Given the description of an element on the screen output the (x, y) to click on. 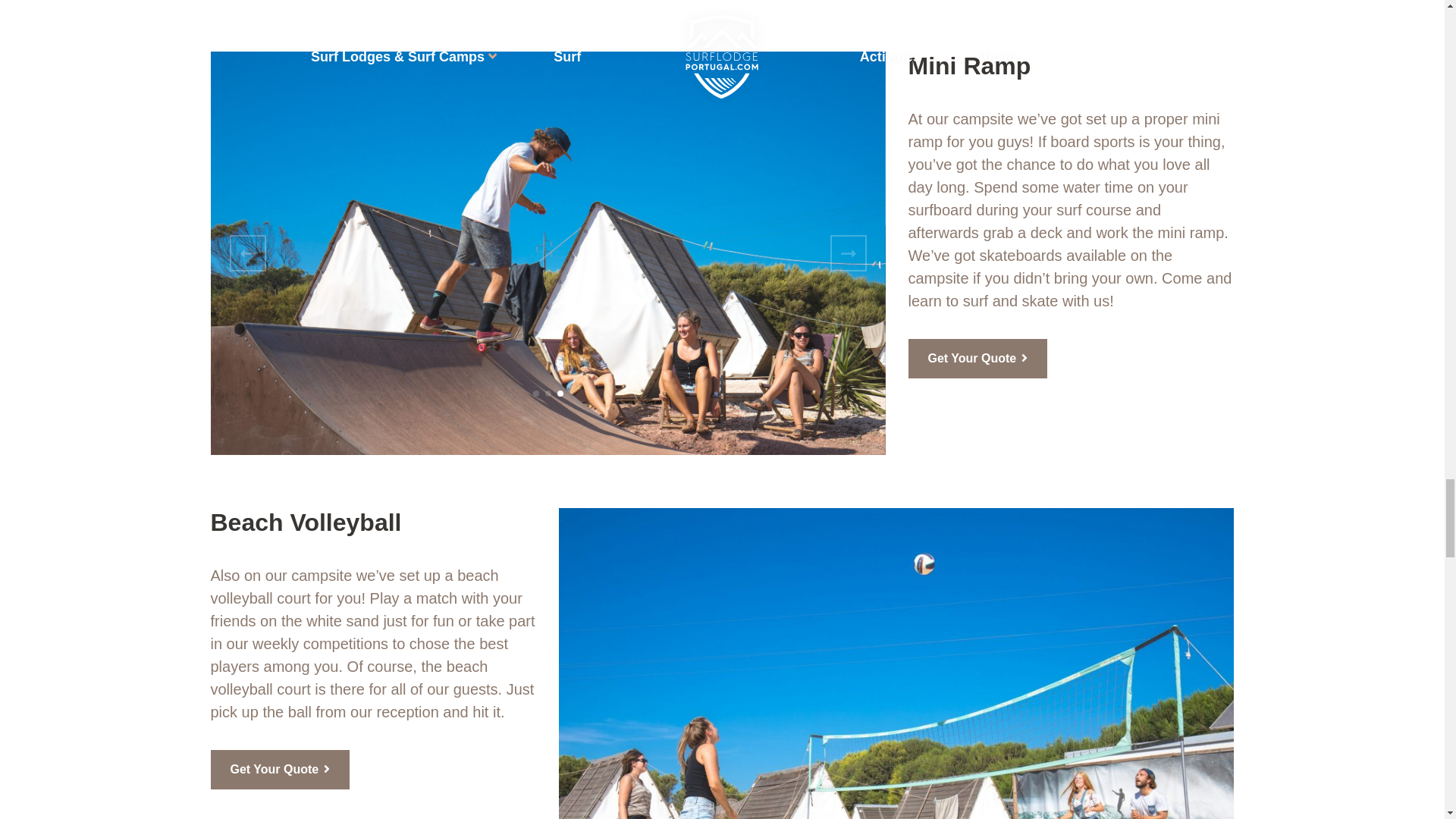
Get Your Quote (280, 769)
Get Your Quote (978, 358)
Get Your Quote (978, 358)
Get Your Quote (280, 769)
